Given the description of an element on the screen output the (x, y) to click on. 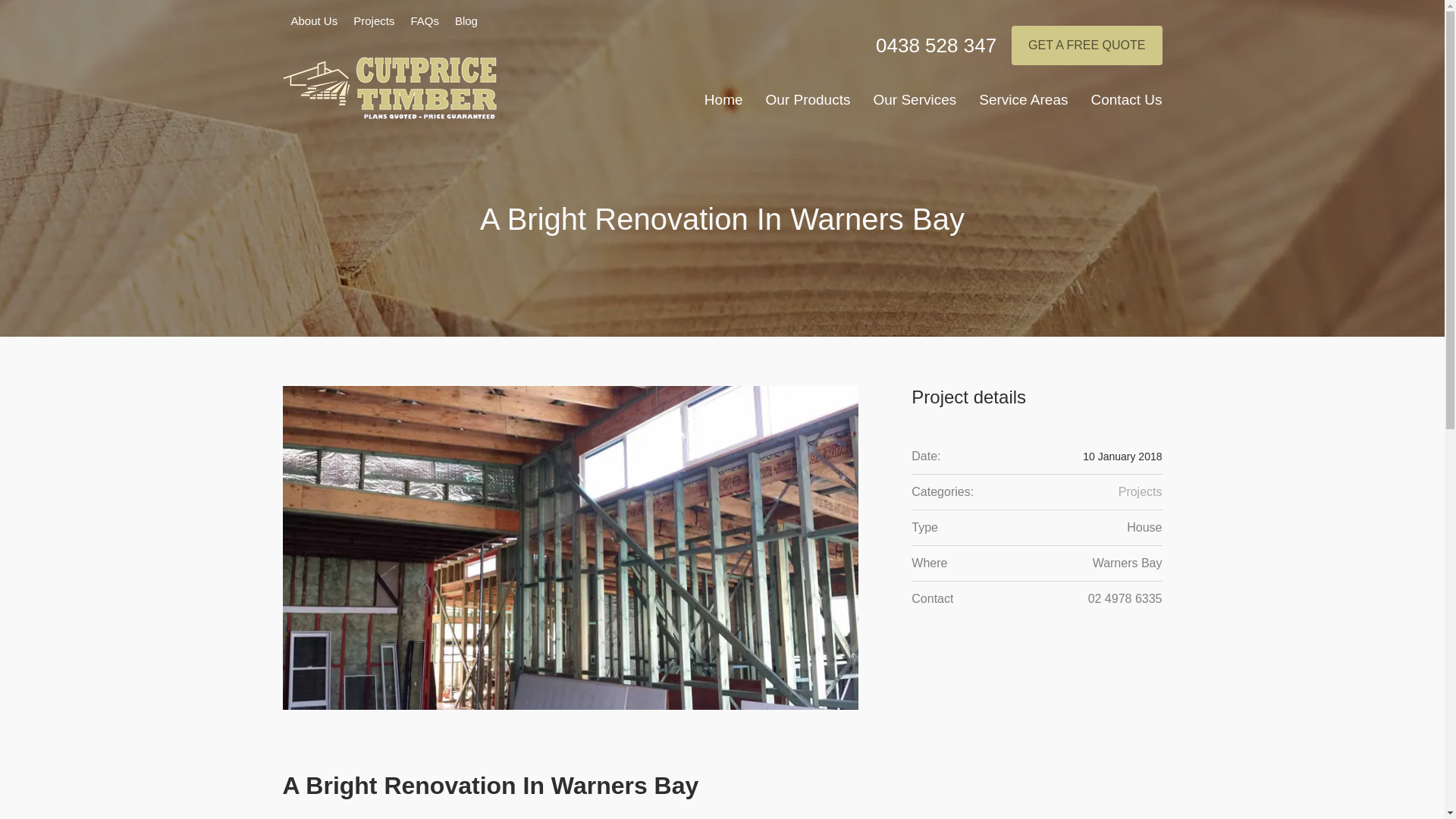
A Bright Renovation In Warners Bay Element type: hover (570, 547)
Service Areas Element type: text (1023, 103)
Our Services Element type: text (914, 103)
0438 528 347 Element type: text (935, 45)
About Us Element type: text (314, 21)
Projects Element type: text (373, 21)
Contact Us Element type: text (1126, 103)
GET A FREE QUOTE Element type: text (1086, 45)
Projects Element type: text (1140, 491)
Our Products Element type: text (807, 103)
Blog Element type: text (466, 21)
FAQs Element type: text (424, 21)
Home Element type: text (723, 103)
